Given the description of an element on the screen output the (x, y) to click on. 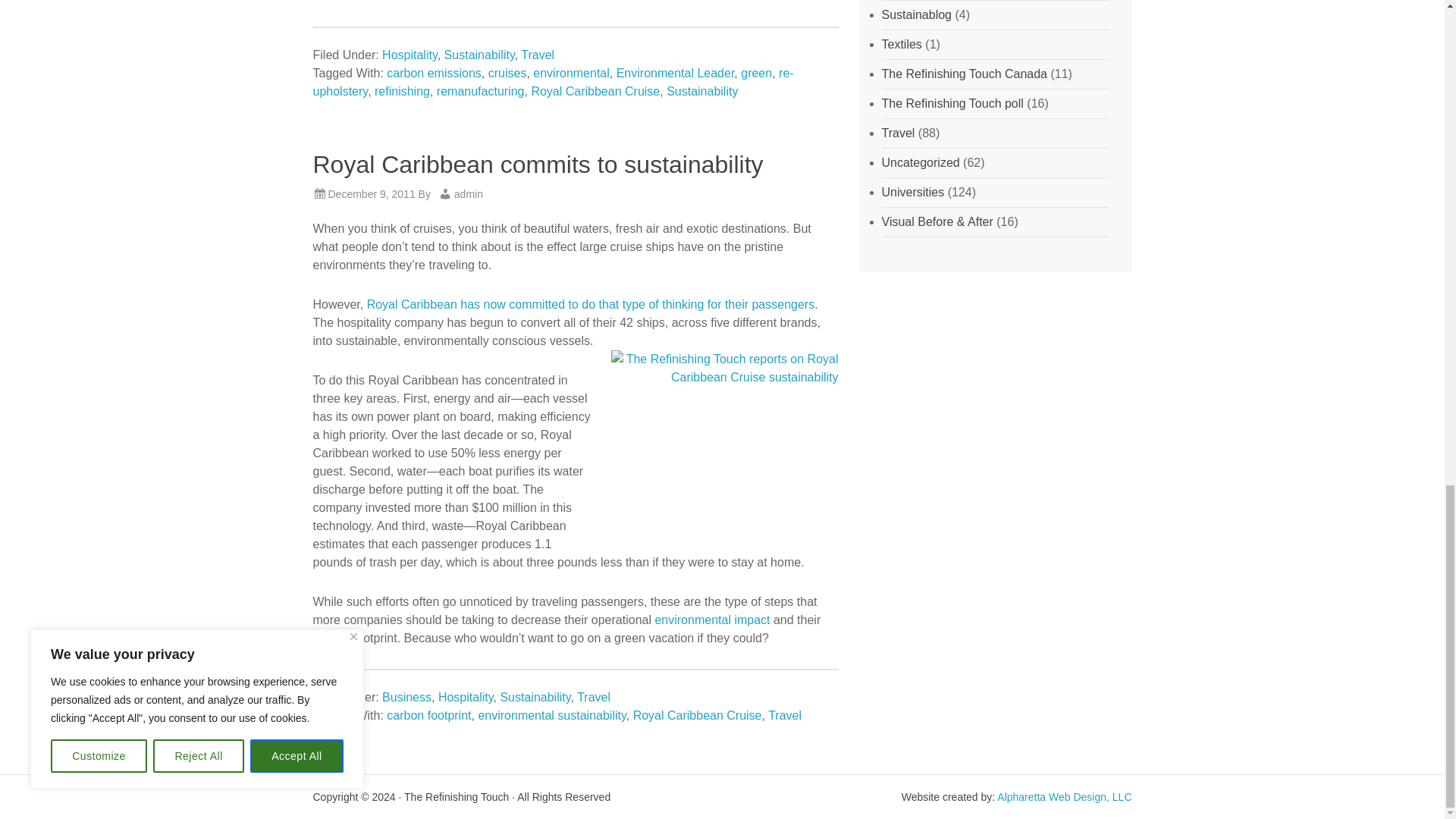
Royal Caribbean sustainability (724, 435)
